Given the description of an element on the screen output the (x, y) to click on. 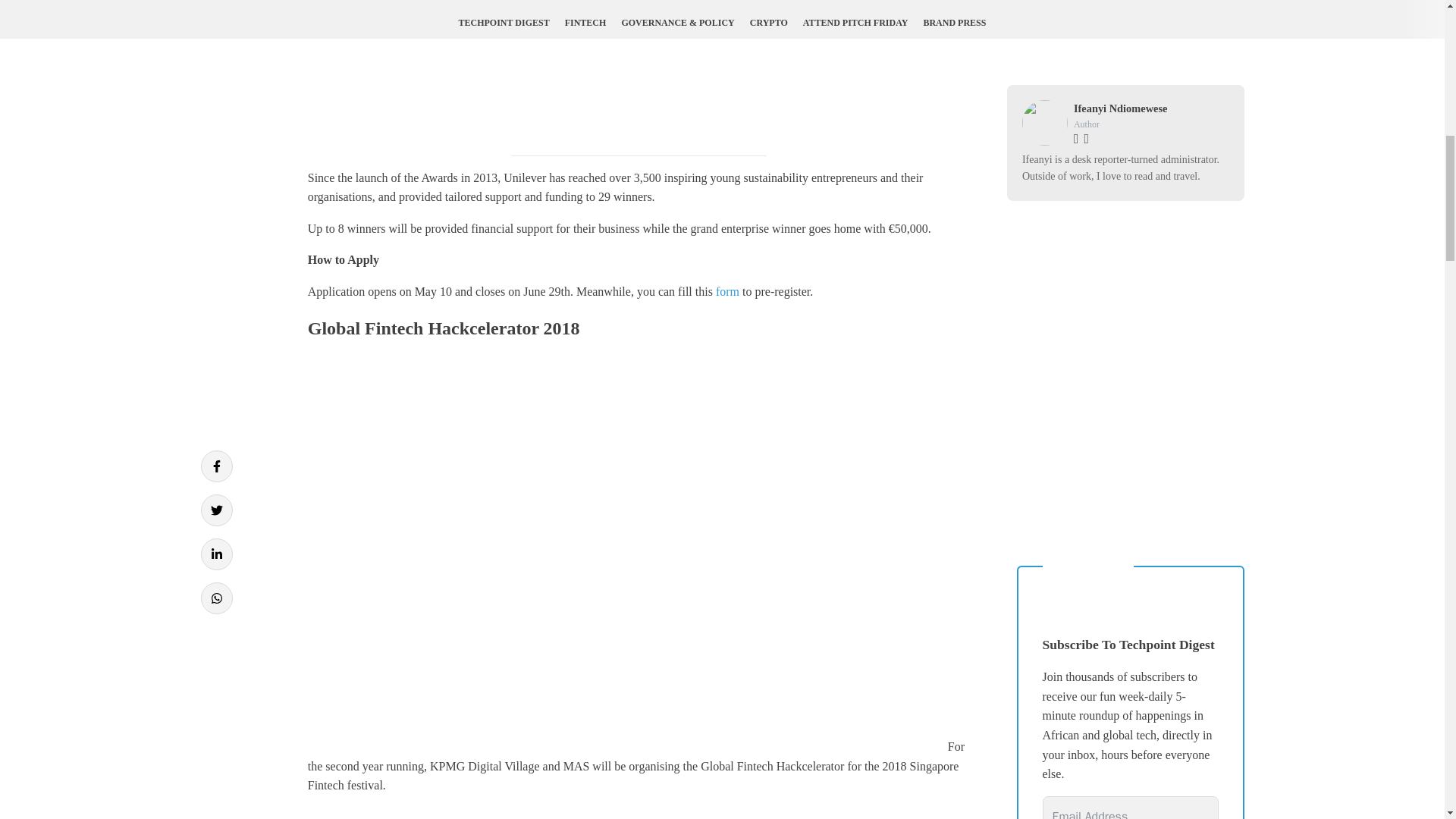
form (727, 291)
